Given the description of an element on the screen output the (x, y) to click on. 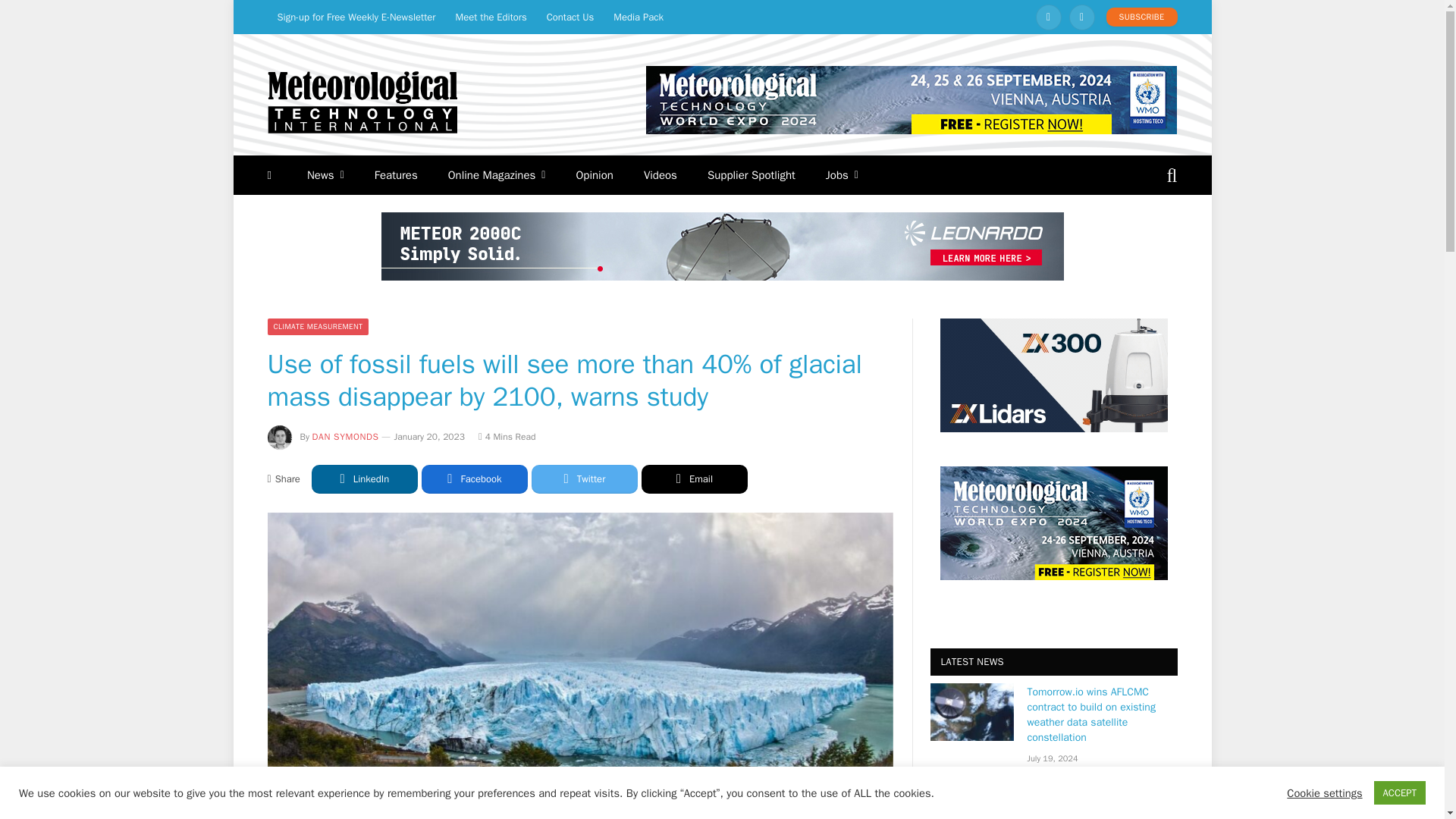
Share on Facebook (474, 479)
Meteorological Technology International (361, 101)
Share on Twitter (584, 479)
Share on LinkedIn (364, 479)
Share via Email (695, 479)
Posts by Dan Symonds (345, 436)
